Given the description of an element on the screen output the (x, y) to click on. 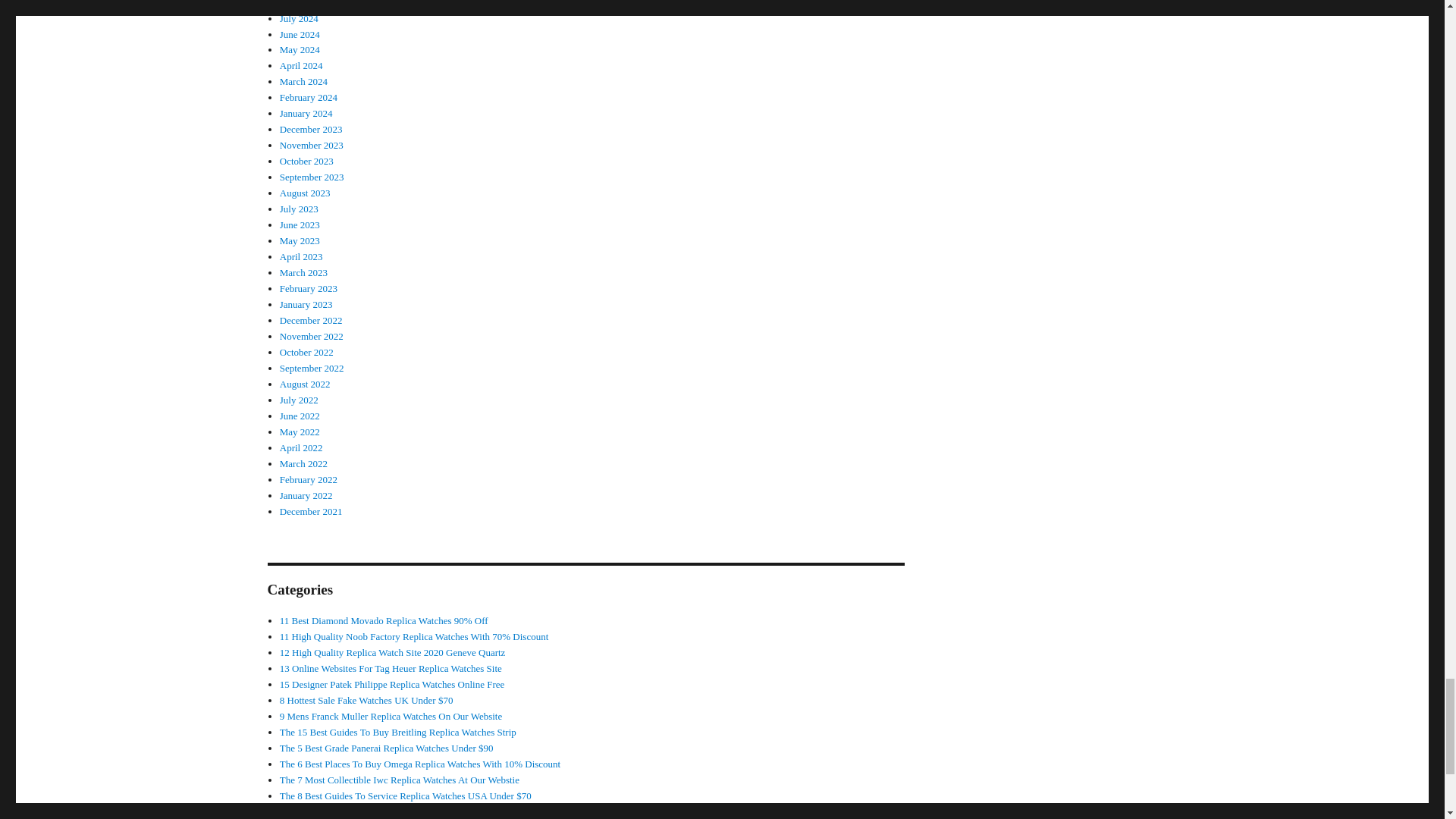
November 2022 (311, 336)
February 2023 (308, 288)
June 2024 (299, 34)
December 2023 (310, 129)
October 2022 (306, 351)
May 2024 (299, 49)
November 2023 (311, 144)
January 2023 (306, 304)
July 2023 (298, 208)
April 2024 (301, 65)
April 2023 (301, 256)
July 2024 (298, 18)
March 2023 (303, 272)
August 2023 (304, 193)
February 2024 (308, 97)
